Given the description of an element on the screen output the (x, y) to click on. 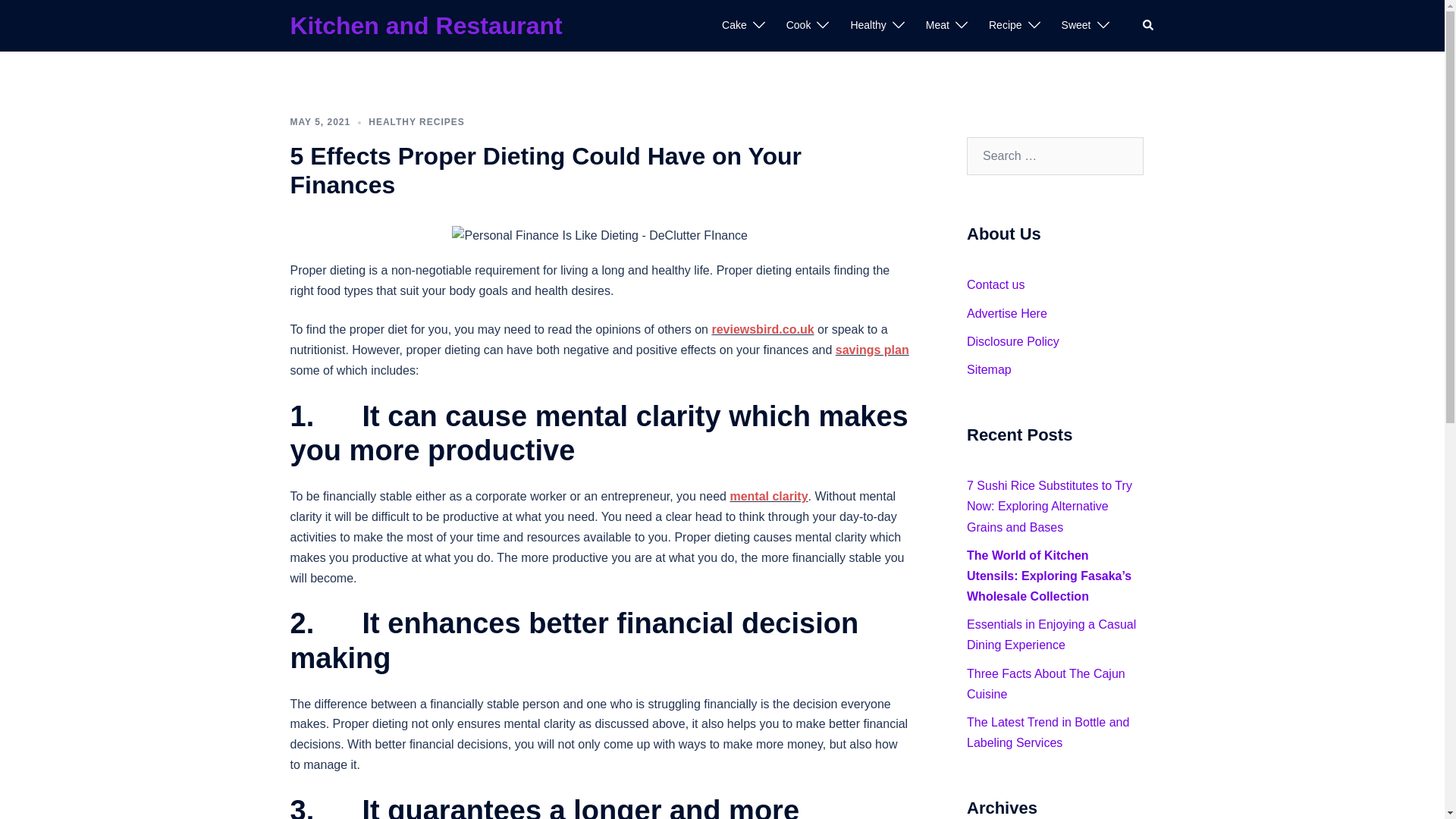
Healthy (867, 25)
Cake (734, 25)
Search (1147, 25)
Cook (798, 25)
Sweet (1075, 25)
Recipe (1005, 25)
Kitchen and Restaurant (425, 25)
Meat (937, 25)
